Given the description of an element on the screen output the (x, y) to click on. 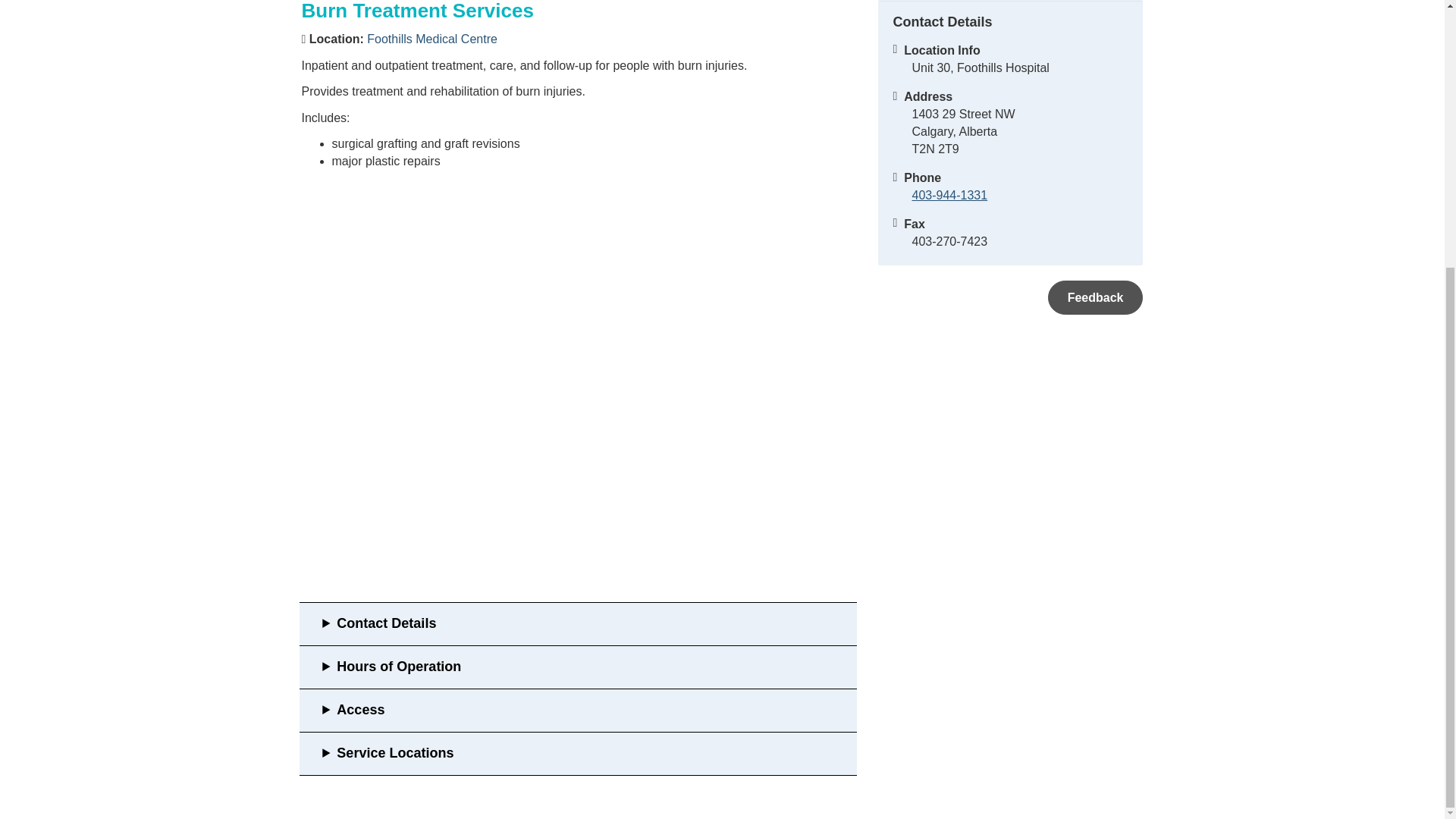
Feedback (1095, 297)
Foothills Medical Centre (431, 38)
403-944-1331 (949, 195)
